Given the description of an element on the screen output the (x, y) to click on. 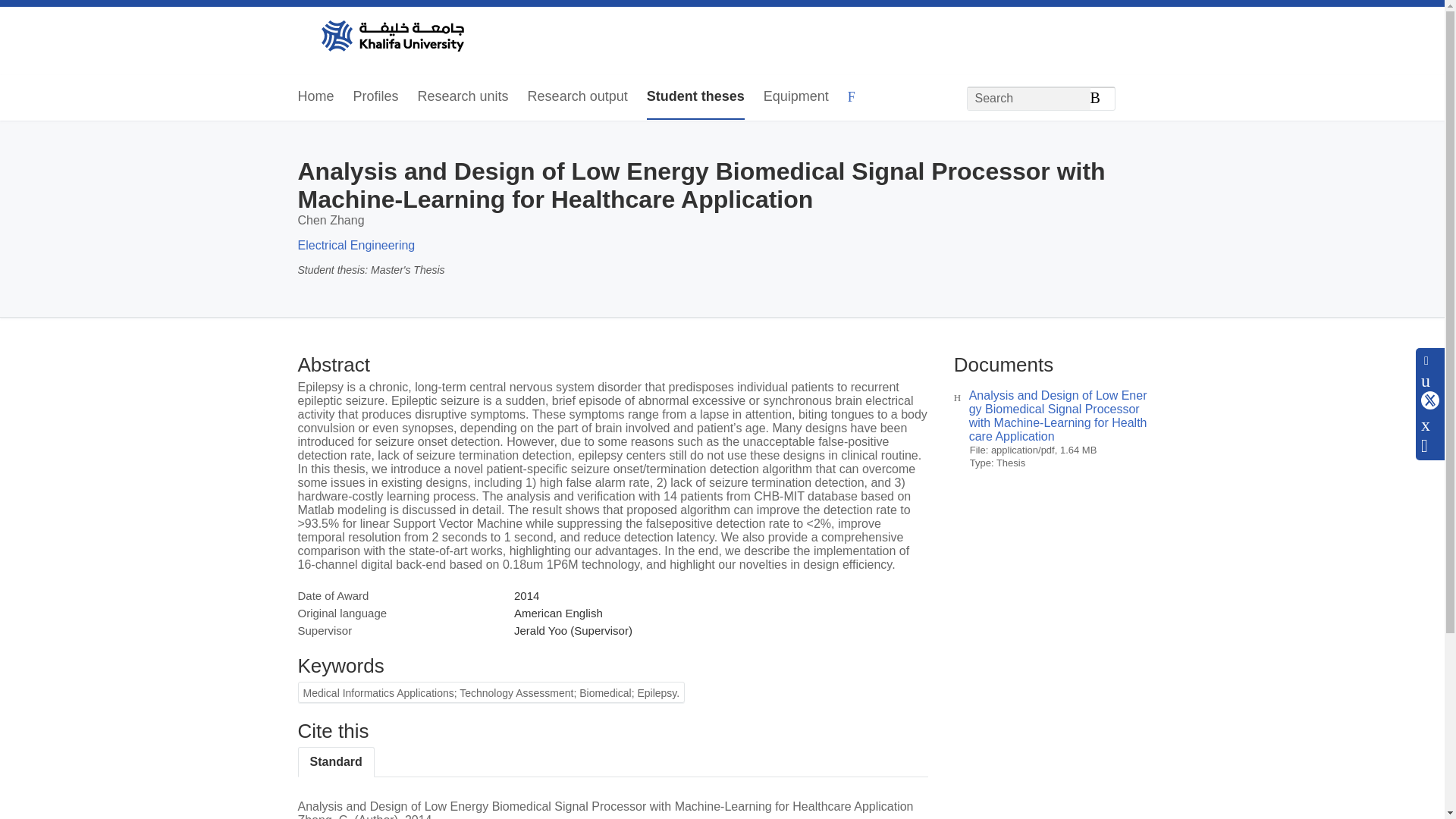
Student theses (695, 97)
Profiles (375, 97)
Electrical Engineering (355, 245)
Equipment (795, 97)
Research output (577, 97)
Khalifa University Home (391, 37)
Research units (462, 97)
